Given the description of an element on the screen output the (x, y) to click on. 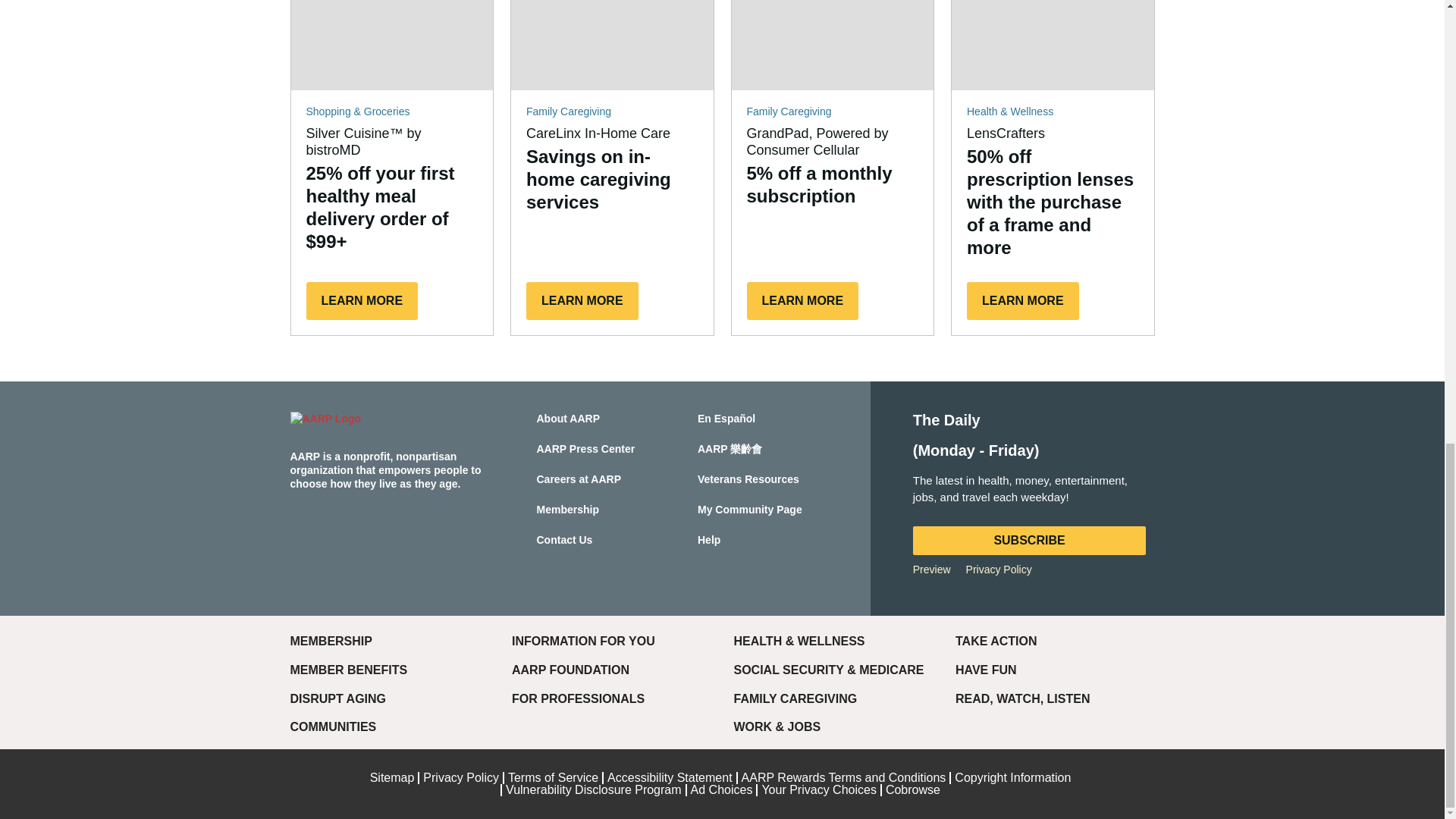
GrandPad, Powered by Consumer Cellular (831, 45)
CareLinx In-Home Care (612, 45)
Shepherds pie, veg, drink (392, 45)
